Given the description of an element on the screen output the (x, y) to click on. 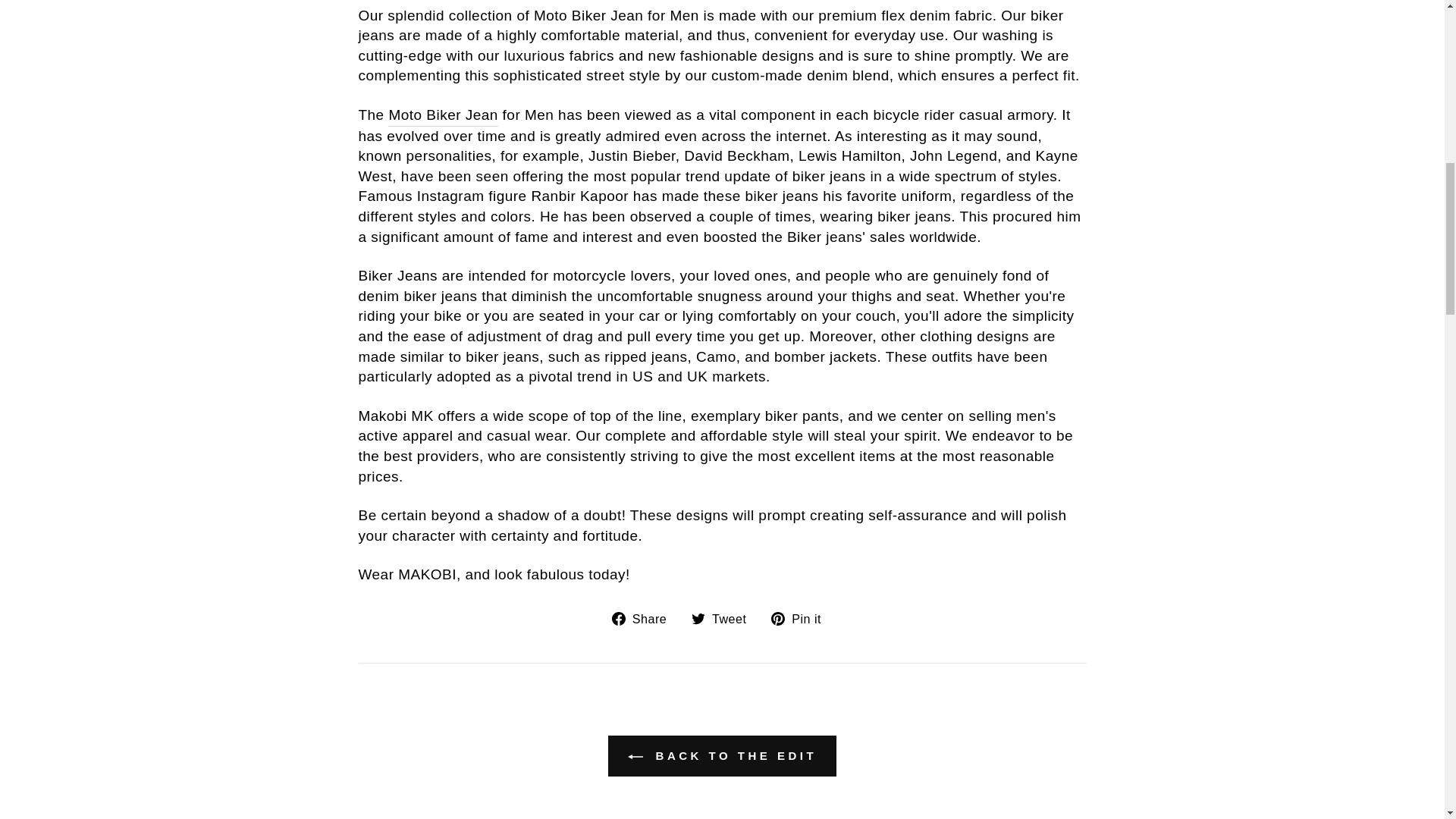
Share on Facebook (644, 618)
Pin on Pinterest (801, 618)
Tweet on Twitter (724, 618)
